Given the description of an element on the screen output the (x, y) to click on. 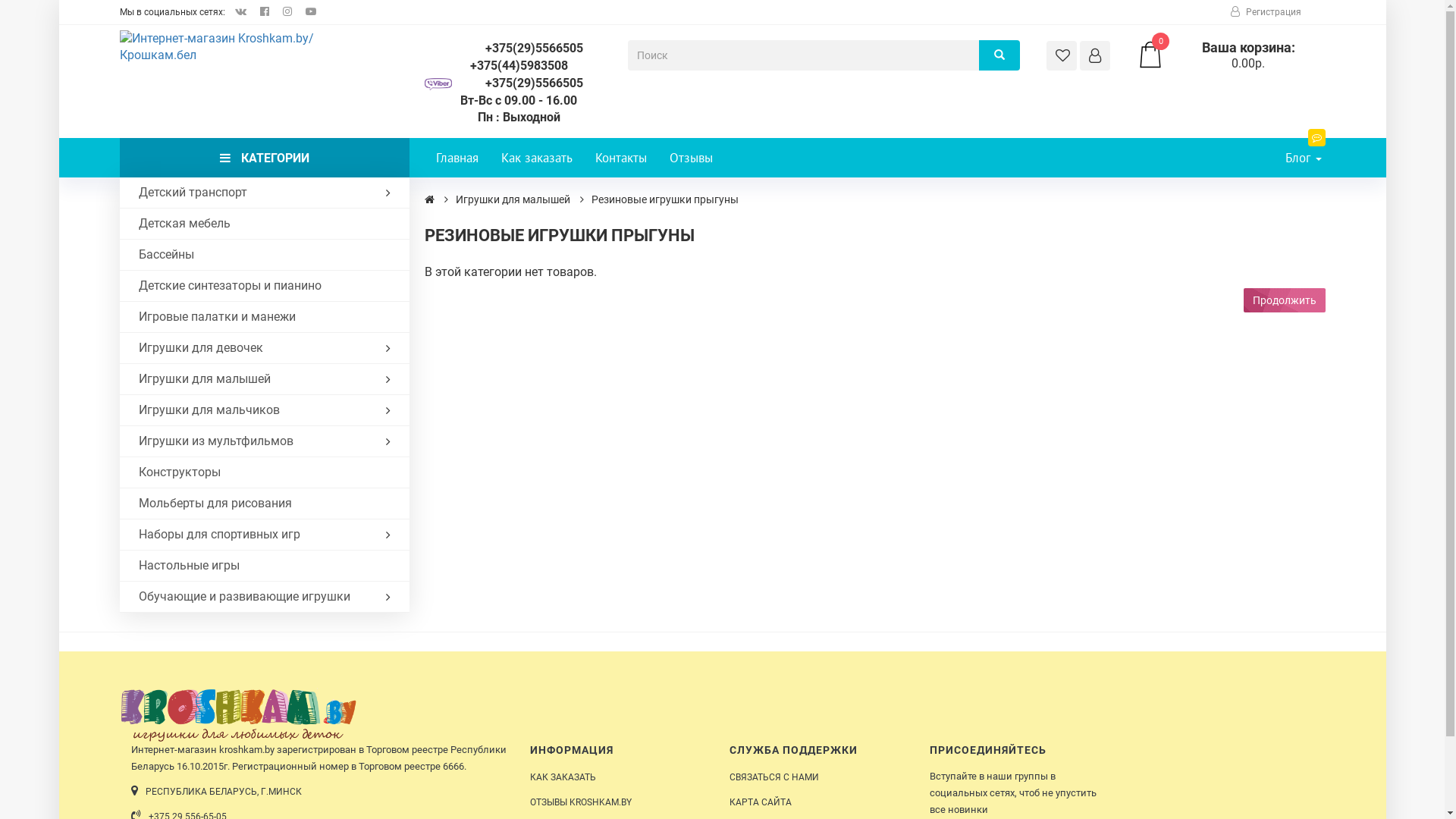
+375(44)5983508 Element type: text (518, 66)
+375(29)5566505 Element type: text (518, 48)
+375(29)5566505 Element type: text (518, 83)
